Given the description of an element on the screen output the (x, y) to click on. 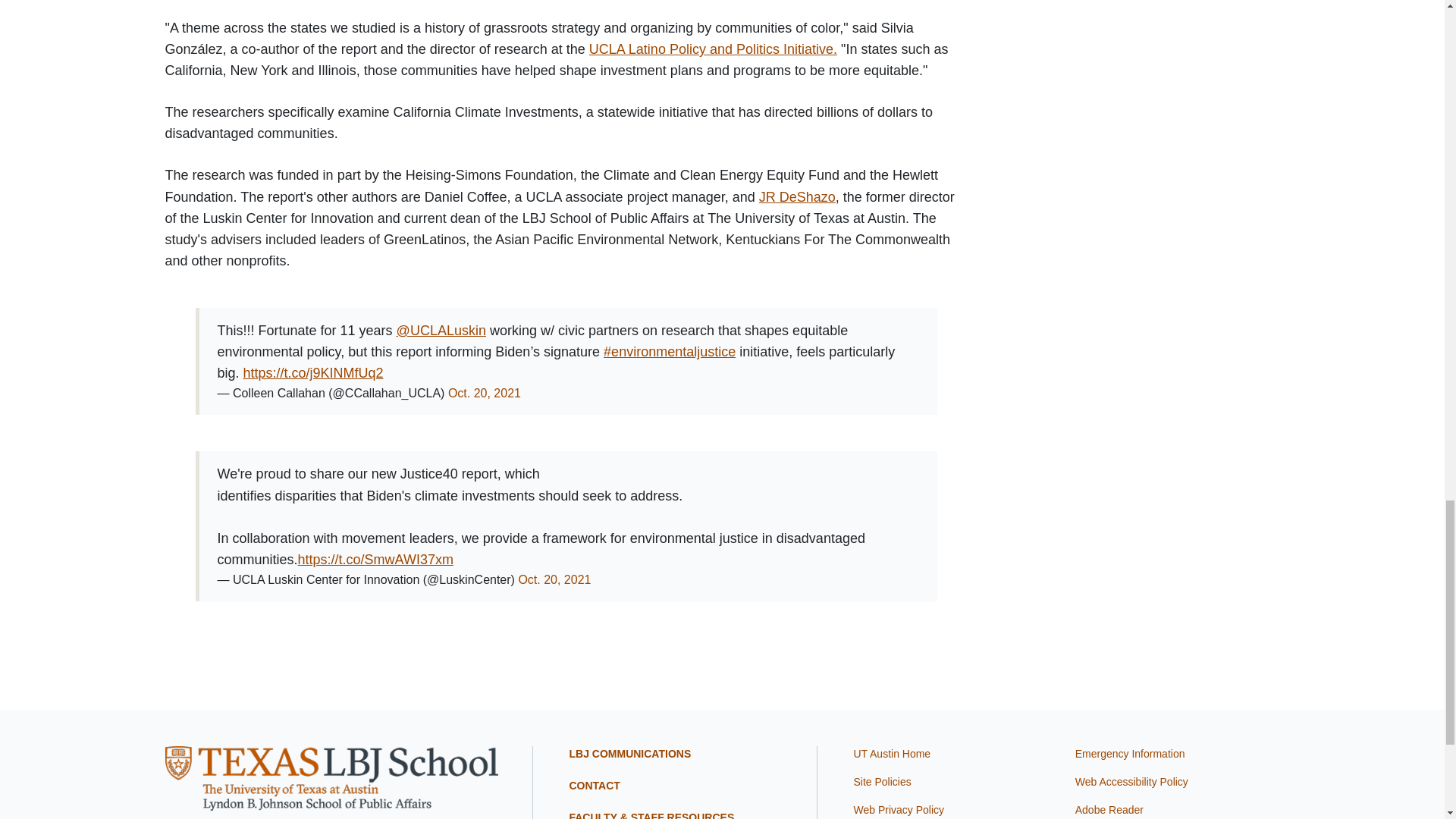
Home (331, 777)
